Given the description of an element on the screen output the (x, y) to click on. 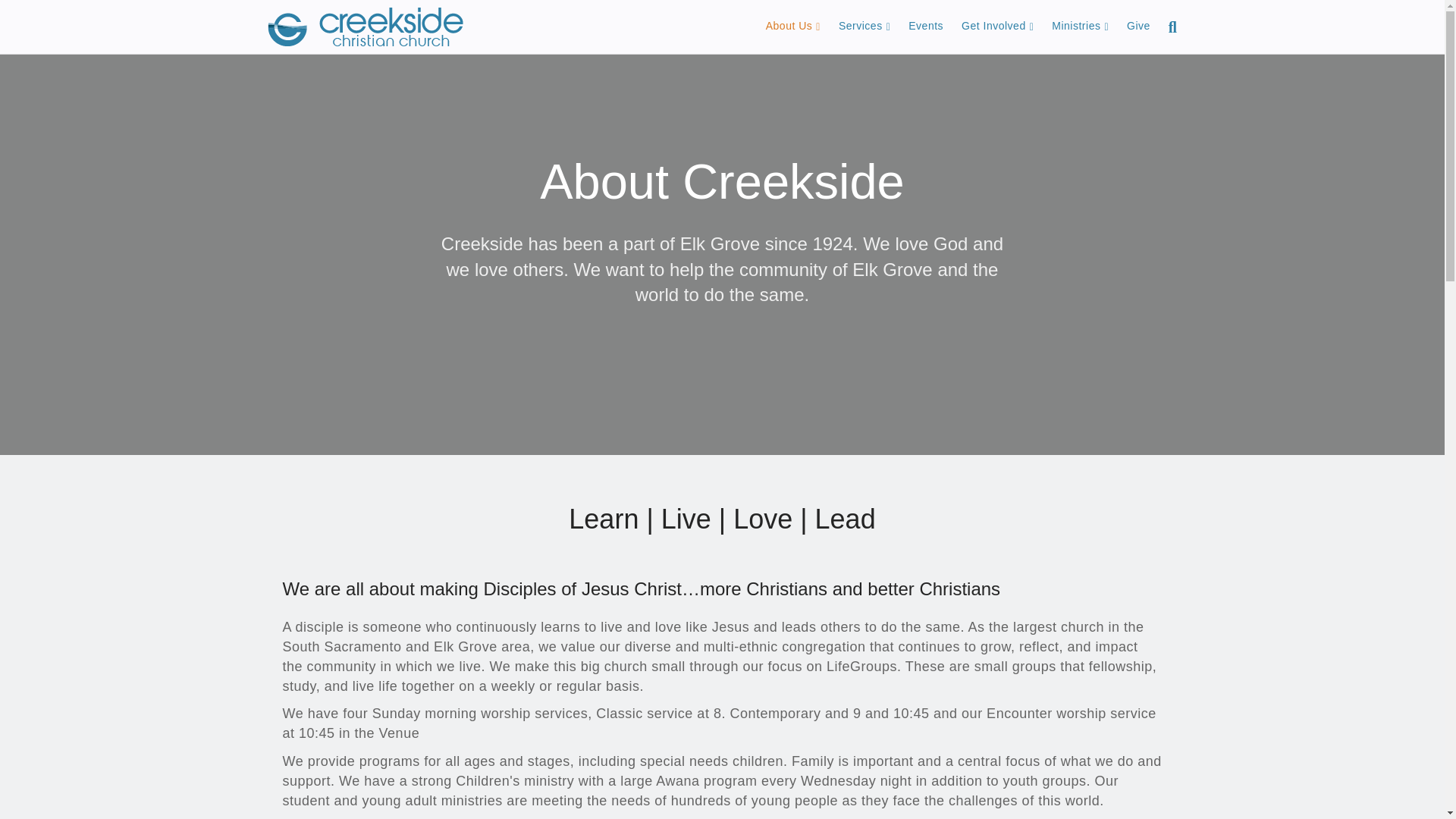
Events (925, 26)
Ministries (1080, 26)
Give (1138, 26)
About Us (793, 26)
Services (864, 26)
Get Involved (997, 26)
